Given the description of an element on the screen output the (x, y) to click on. 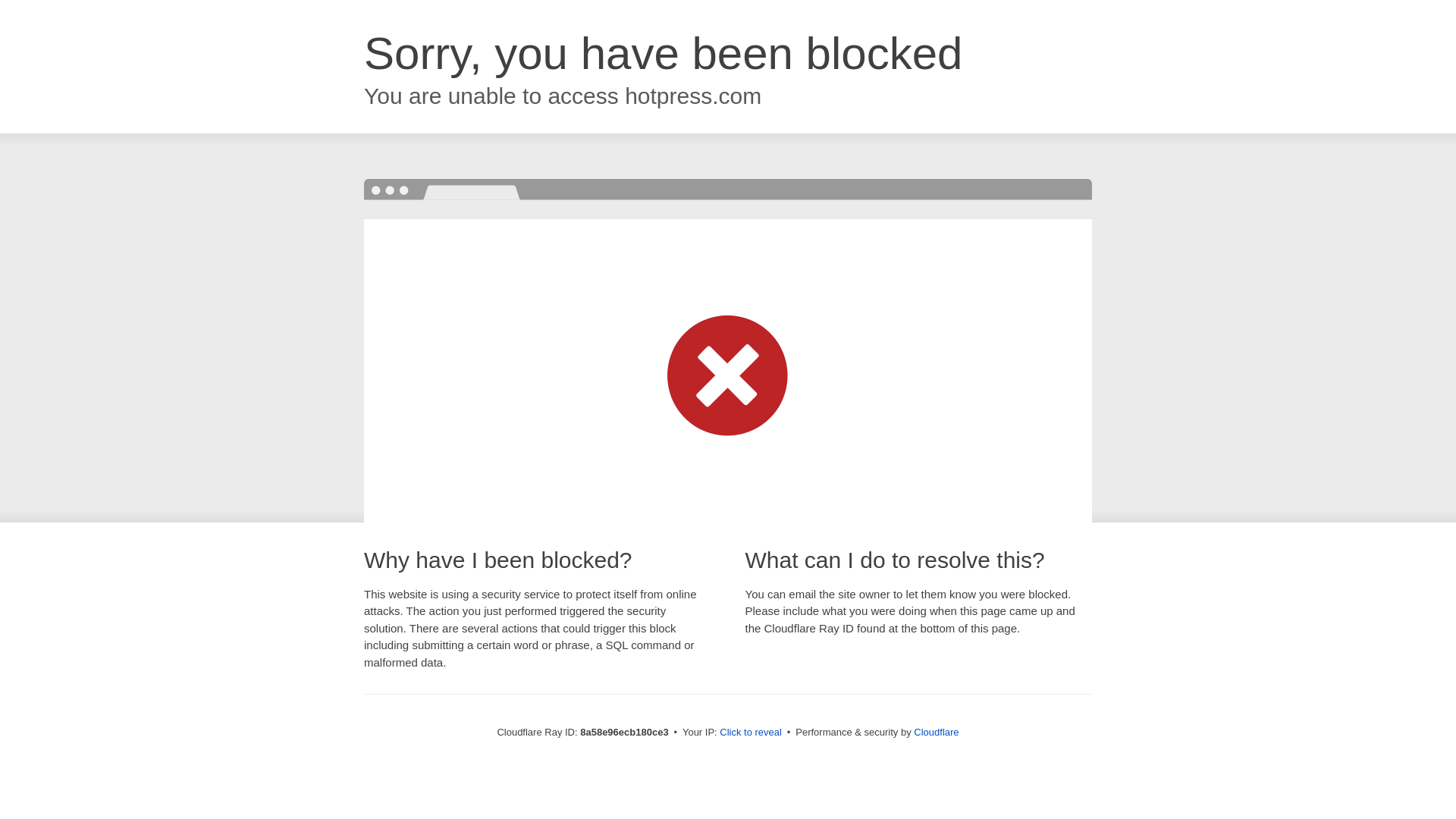
Cloudflare (936, 731)
Click to reveal (750, 732)
